Given the description of an element on the screen output the (x, y) to click on. 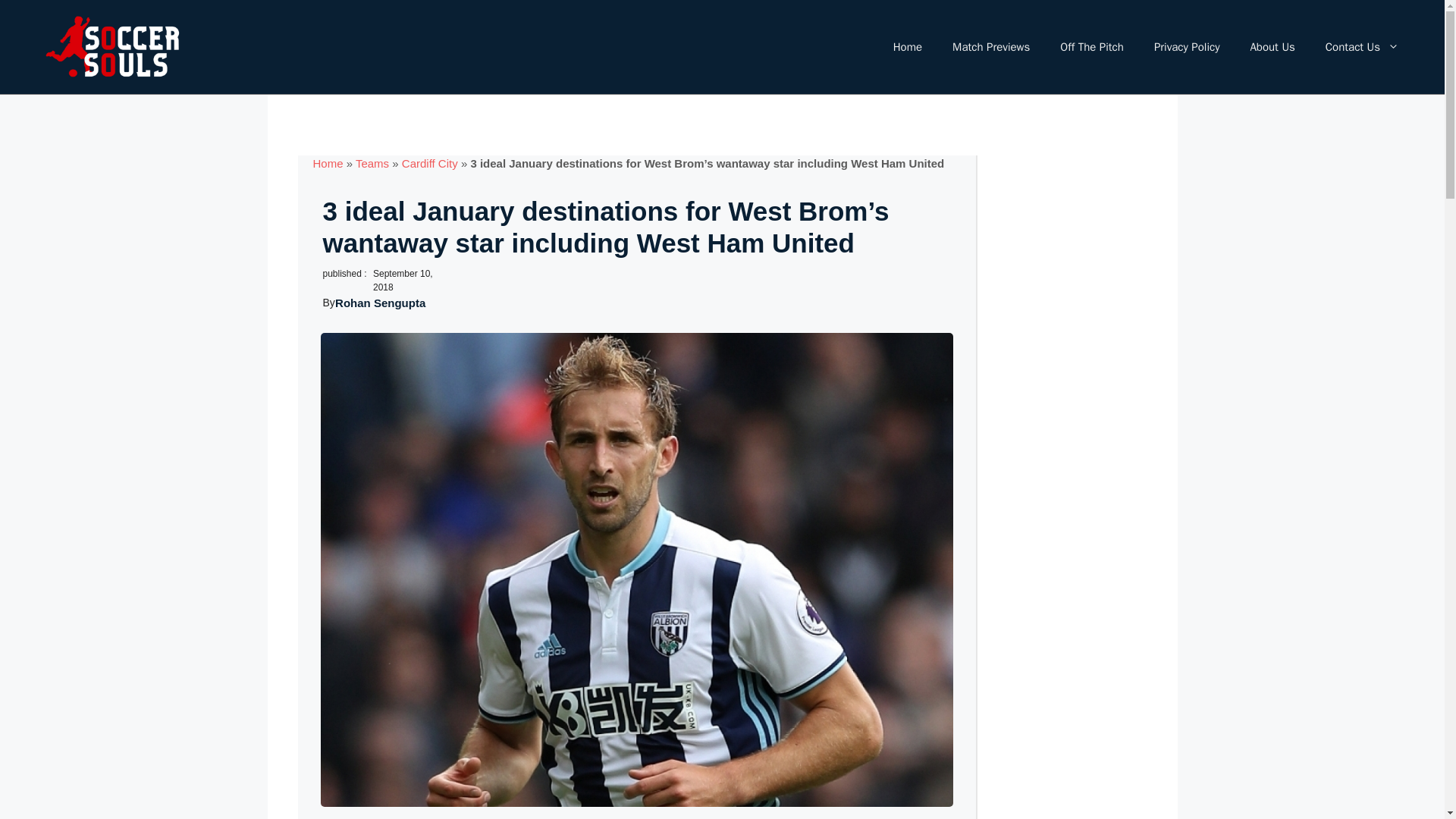
Off The Pitch (1091, 46)
Match Previews (991, 46)
Privacy Policy (1186, 46)
Cardiff City (429, 163)
Rohan Sengupta (379, 302)
Home (907, 46)
Contact Us (1361, 46)
About Us (1271, 46)
Home (327, 163)
Teams (371, 163)
